Given the description of an element on the screen output the (x, y) to click on. 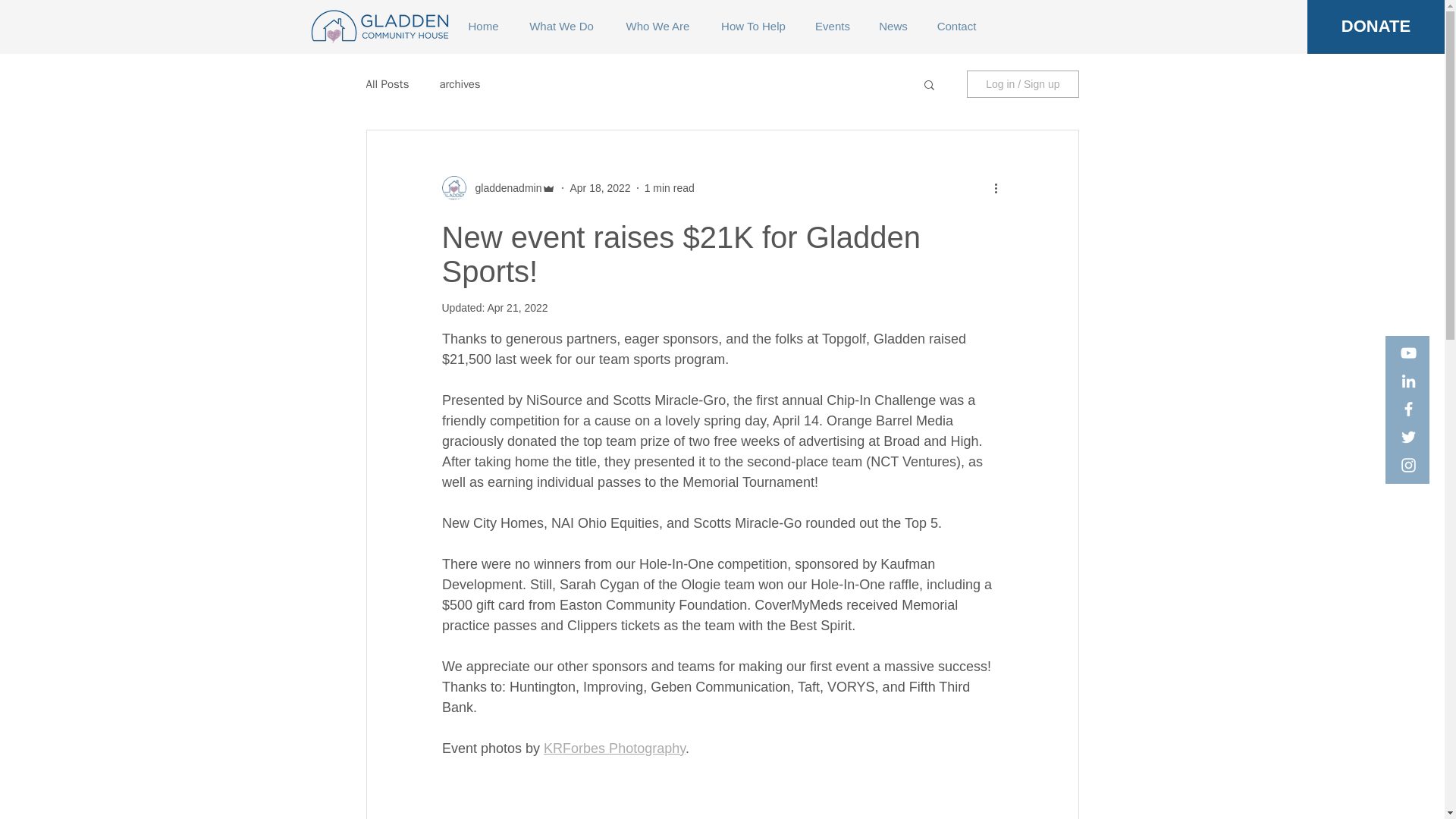
All Posts (387, 83)
KRForbes Photography (614, 748)
Events (832, 26)
Apr 18, 2022 (599, 187)
1 min read (669, 187)
News (892, 26)
What We Do (560, 26)
Apr 21, 2022 (516, 307)
Home (482, 26)
How To Help (751, 26)
gladdenadmin (503, 188)
Who We Are (658, 26)
archives (459, 83)
Contact (956, 26)
